Given the description of an element on the screen output the (x, y) to click on. 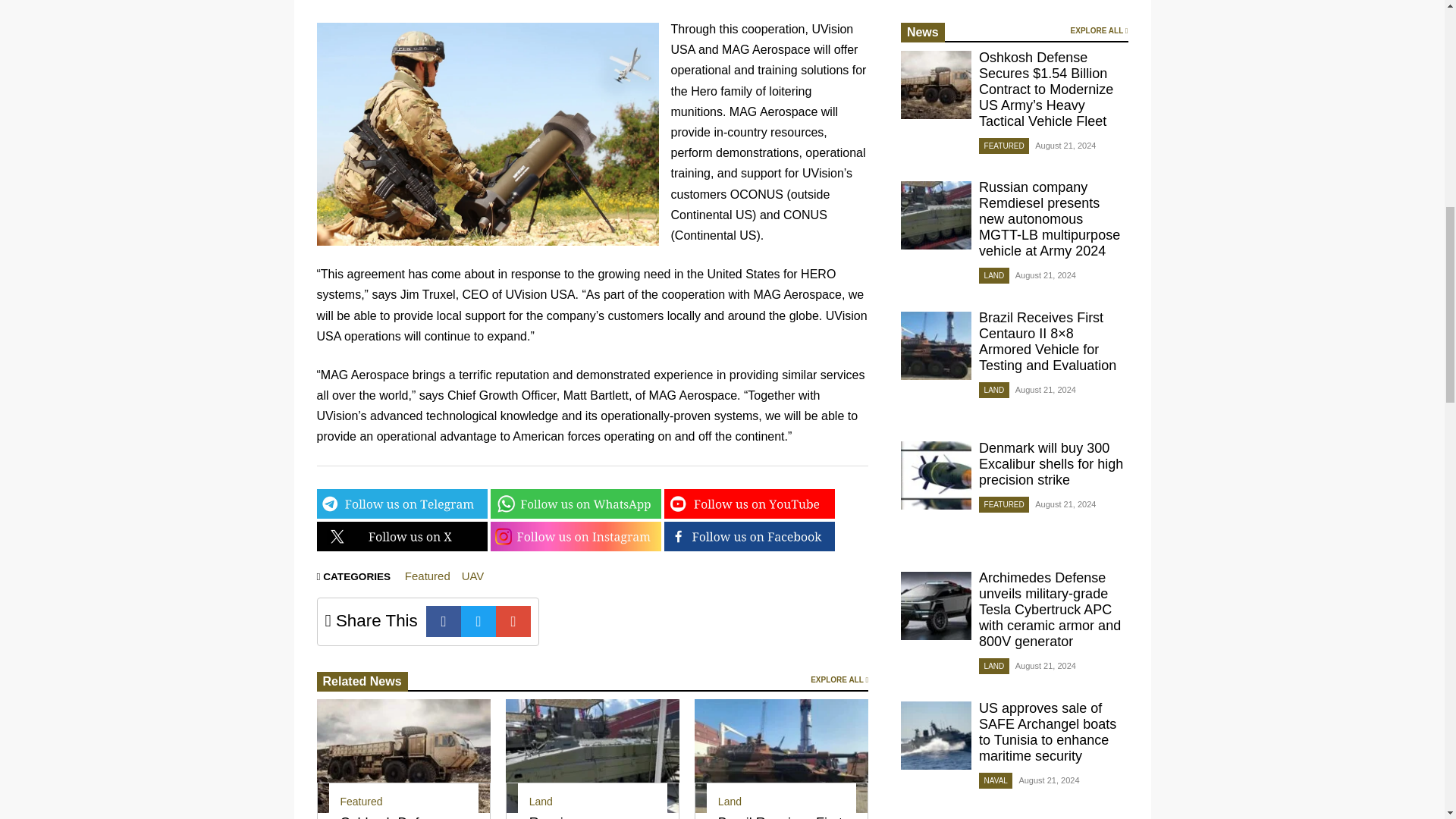
Twitter (478, 621)
Facebook (443, 621)
Land (541, 801)
Featured (360, 801)
Google-plus (513, 621)
